Given the description of an element on the screen output the (x, y) to click on. 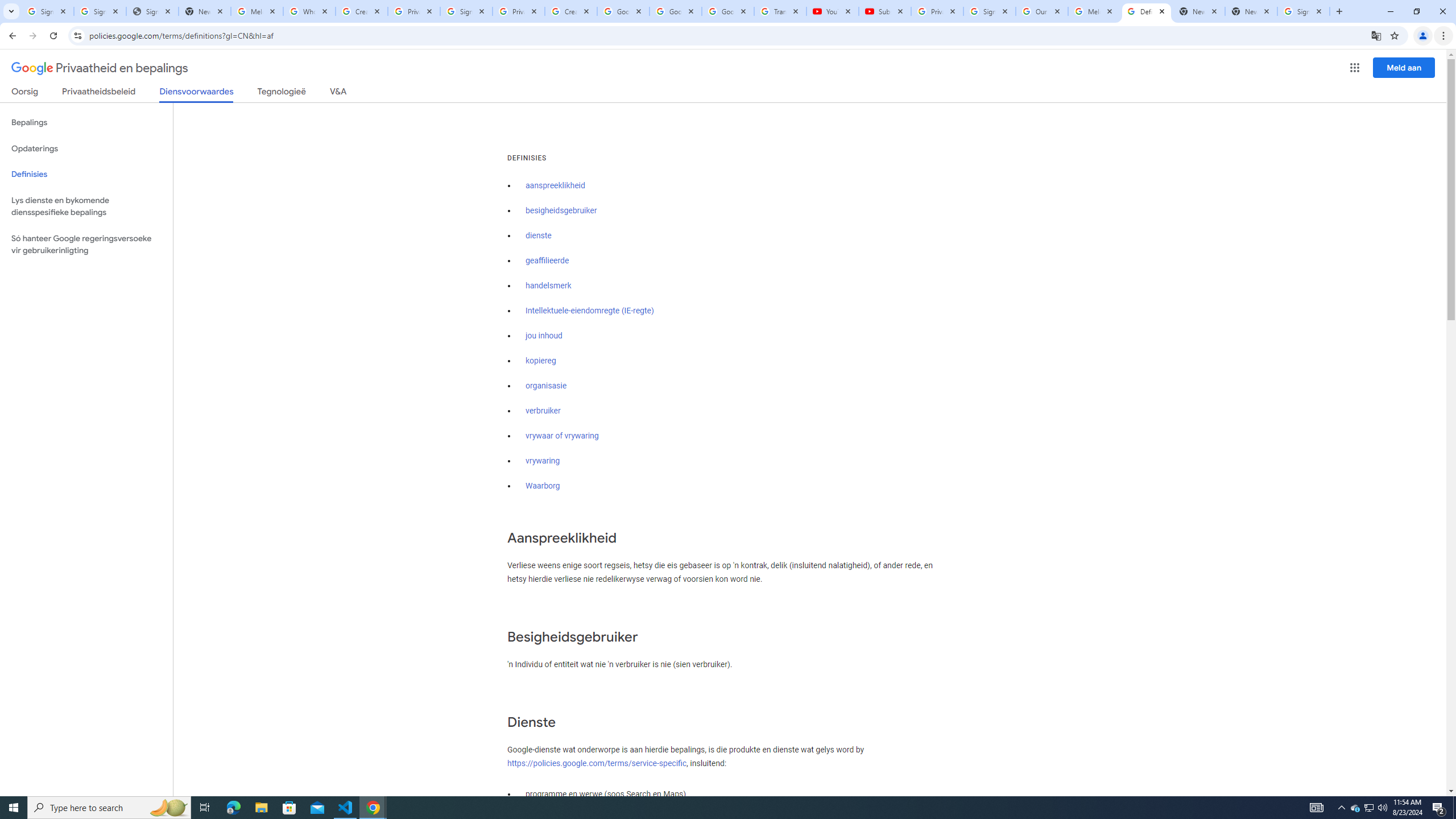
Lys dienste en bykomende diensspesifieke bepalings (86, 206)
organisasie (545, 385)
Waarborg (542, 486)
YouTube (831, 11)
V&A (337, 93)
verbruiker (542, 411)
kopiereg (540, 361)
Translate this page (1376, 35)
